Given the description of an element on the screen output the (x, y) to click on. 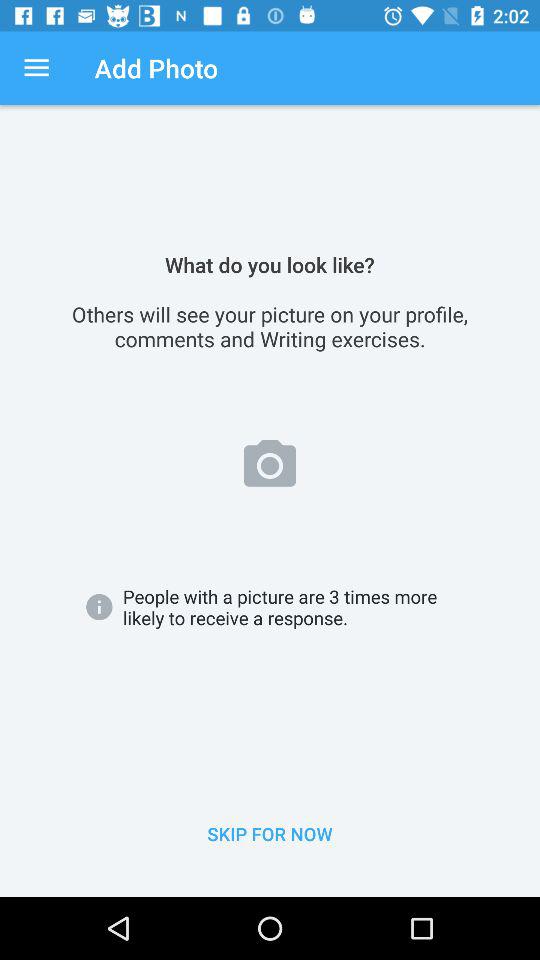
press the icon below people with a item (269, 833)
